Given the description of an element on the screen output the (x, y) to click on. 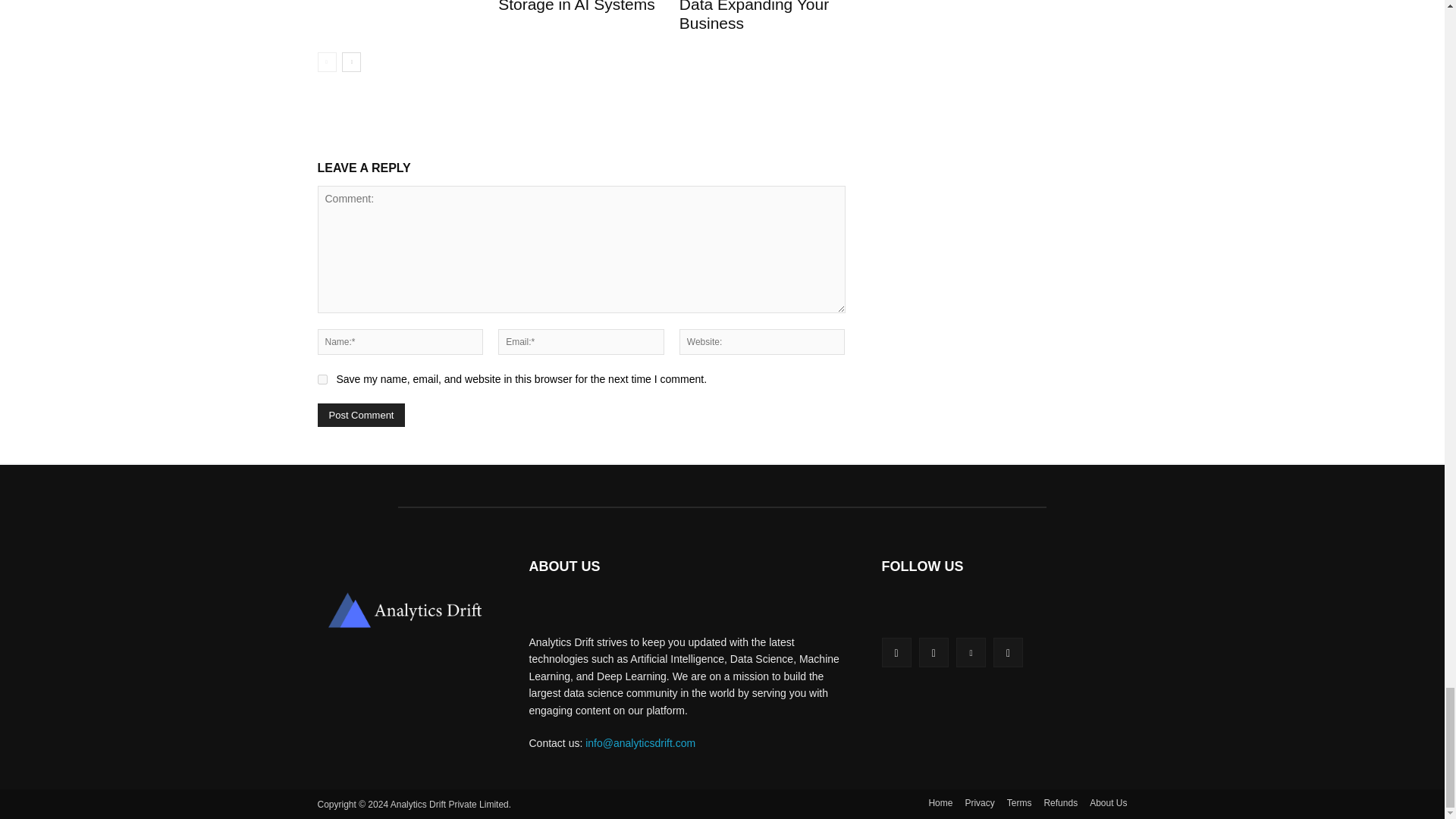
Post Comment (360, 414)
yes (321, 379)
